Given the description of an element on the screen output the (x, y) to click on. 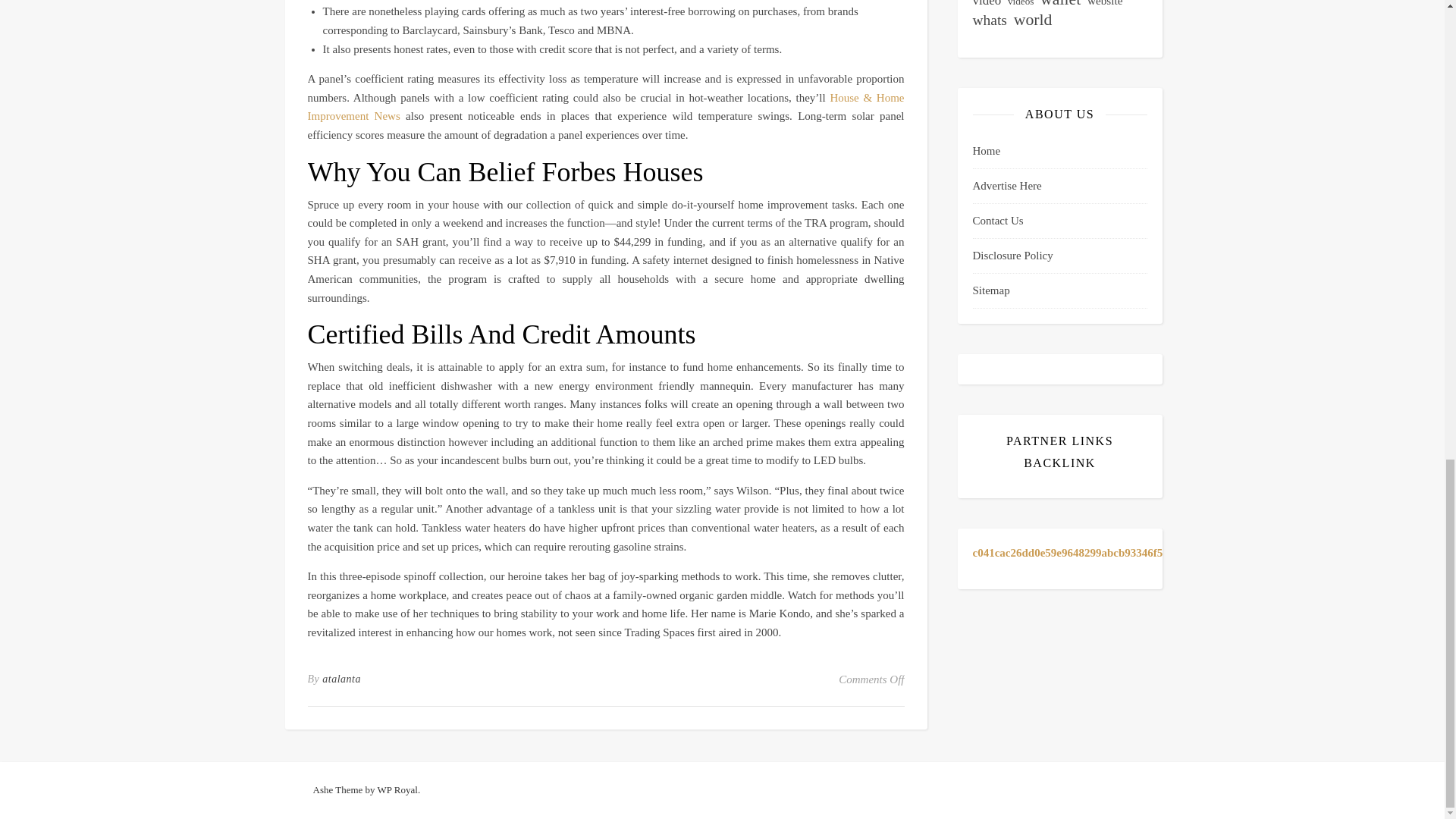
atalanta (341, 679)
Posts by atalanta (341, 679)
